Given the description of an element on the screen output the (x, y) to click on. 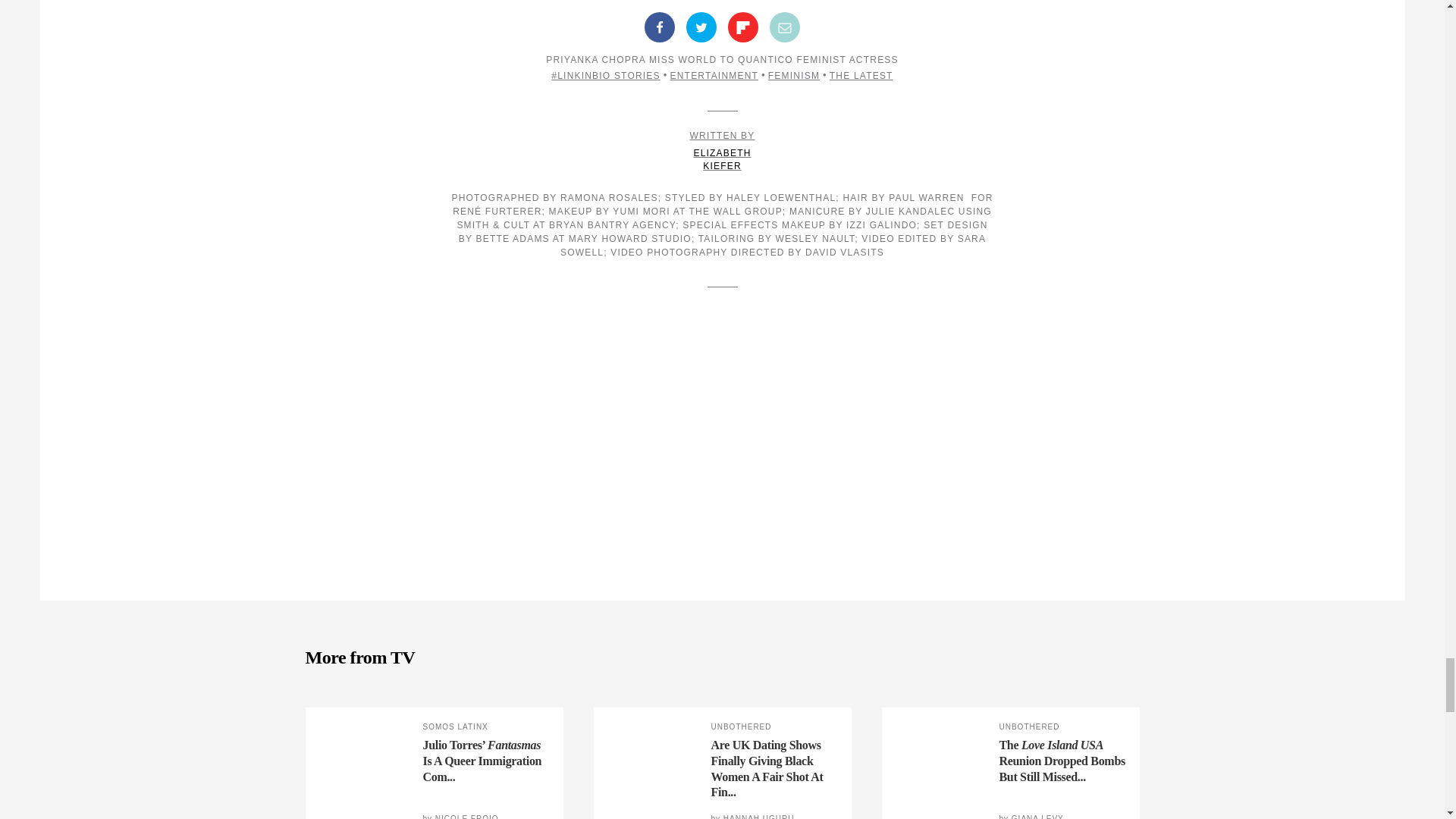
THE LATEST (722, 150)
FEMINISM (861, 75)
Share on Twitter (793, 75)
Share on Flipboard (700, 27)
Share by Email (743, 27)
ENTERTAINMENT (784, 27)
